Given the description of an element on the screen output the (x, y) to click on. 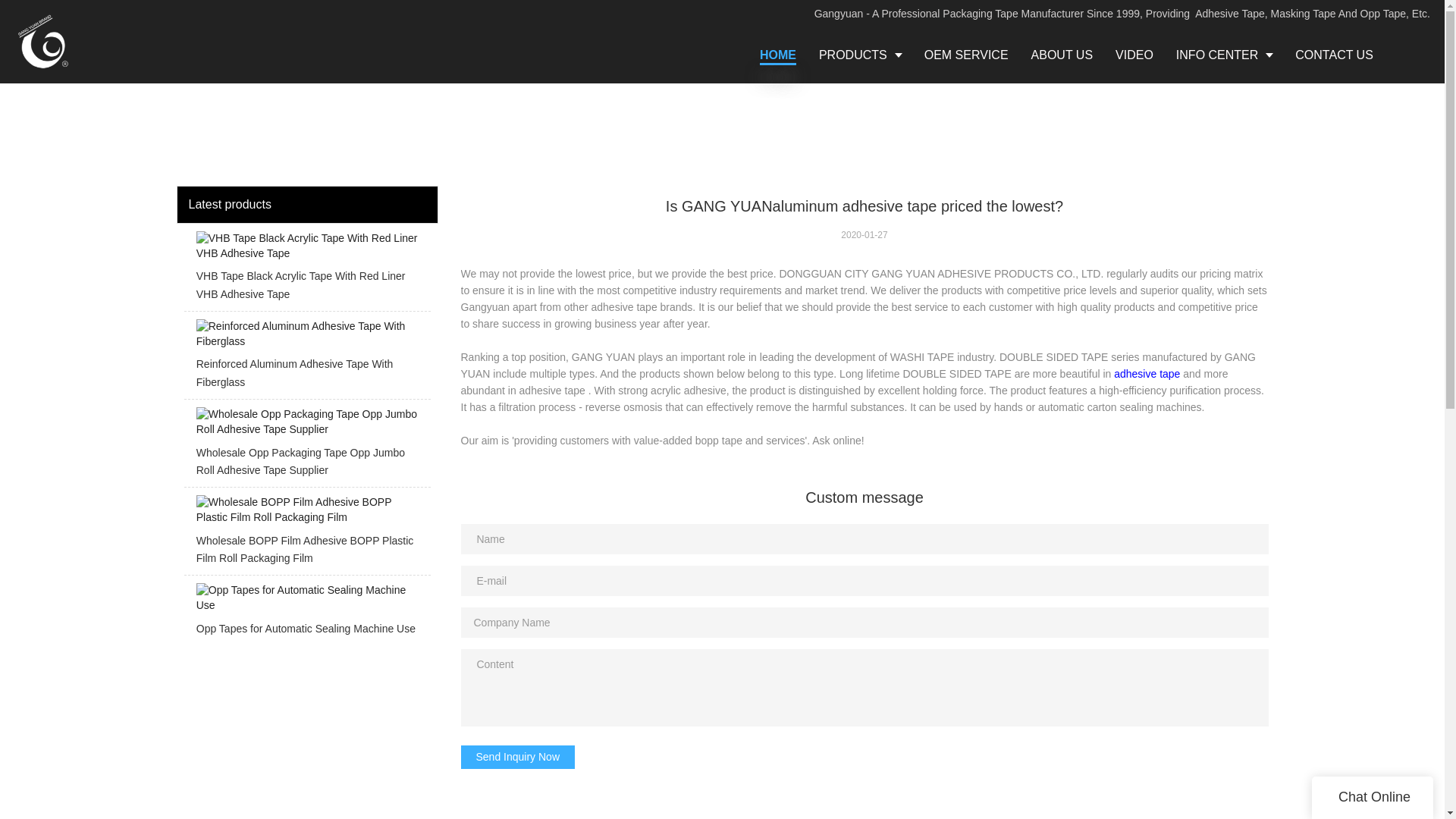
Reinforced Aluminum Adhesive Tape With Fiberglass (306, 358)
PRODUCTS (860, 55)
INFO CENTER (1224, 55)
OEM SERVICE (966, 55)
VIDEO (1133, 55)
CONTACT US (1334, 55)
ABOUT US (1062, 55)
Send Inquiry Now (518, 756)
